Given the description of an element on the screen output the (x, y) to click on. 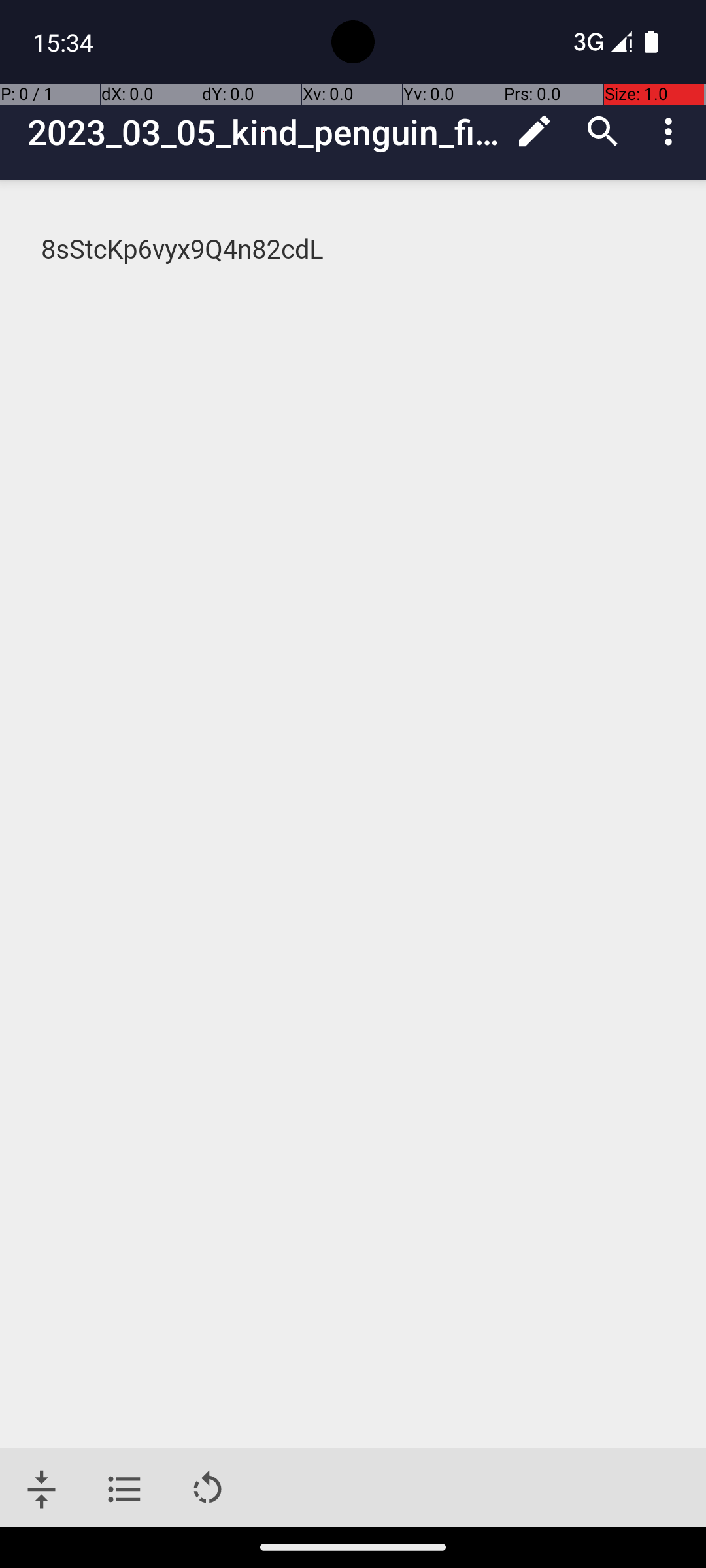
2023_03_05_kind_penguin_final Element type: android.widget.TextView (263, 131)
Jump to bottom Element type: android.widget.ImageView (41, 1488)
Rotate Element type: android.widget.ImageView (207, 1488)
8sStcKp6vyx9Q4n82cdL Element type: android.widget.TextView (354, 249)
